Given the description of an element on the screen output the (x, y) to click on. 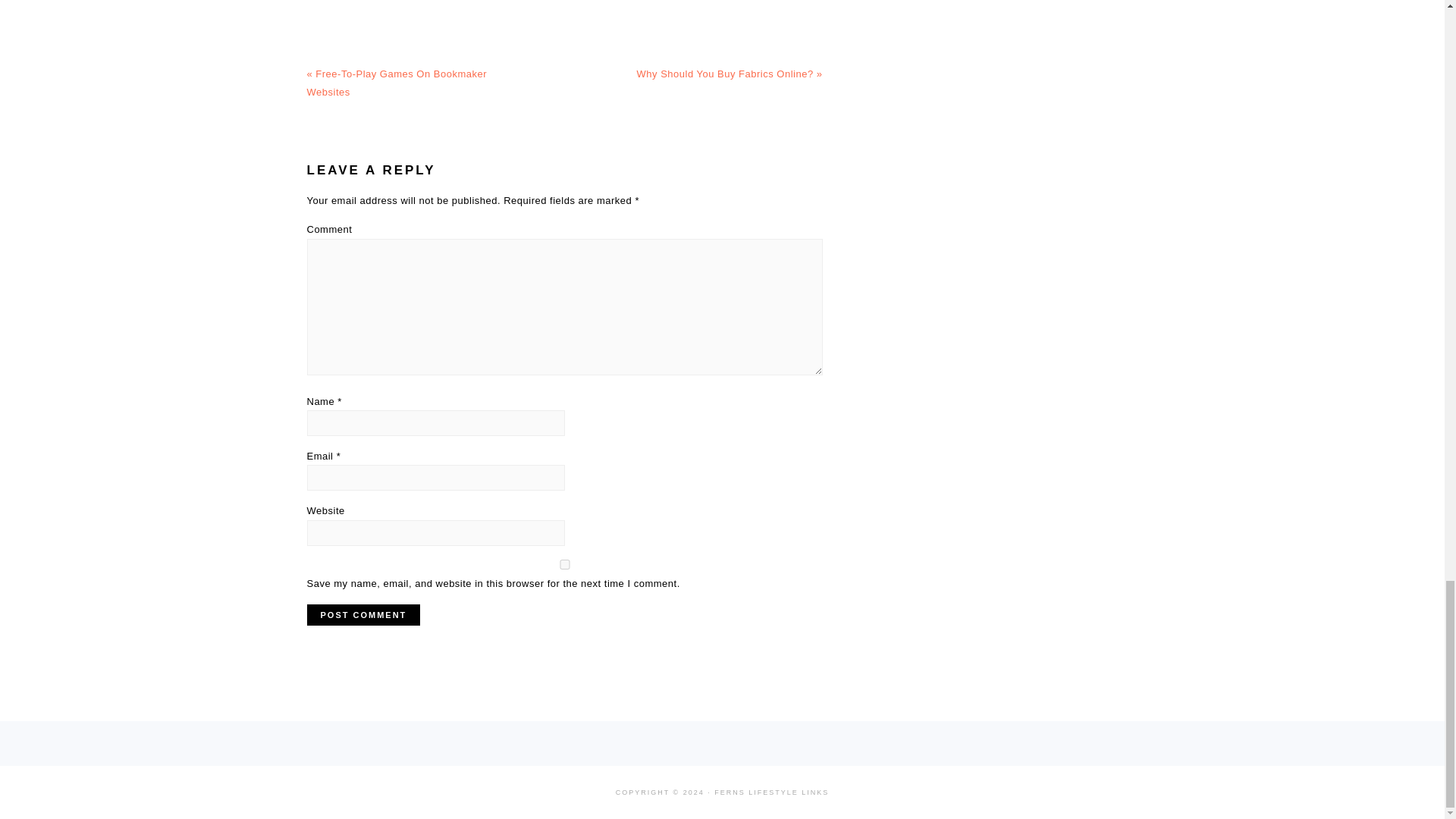
Post Comment (362, 613)
Post Comment (362, 613)
yes (563, 564)
